Given the description of an element on the screen output the (x, y) to click on. 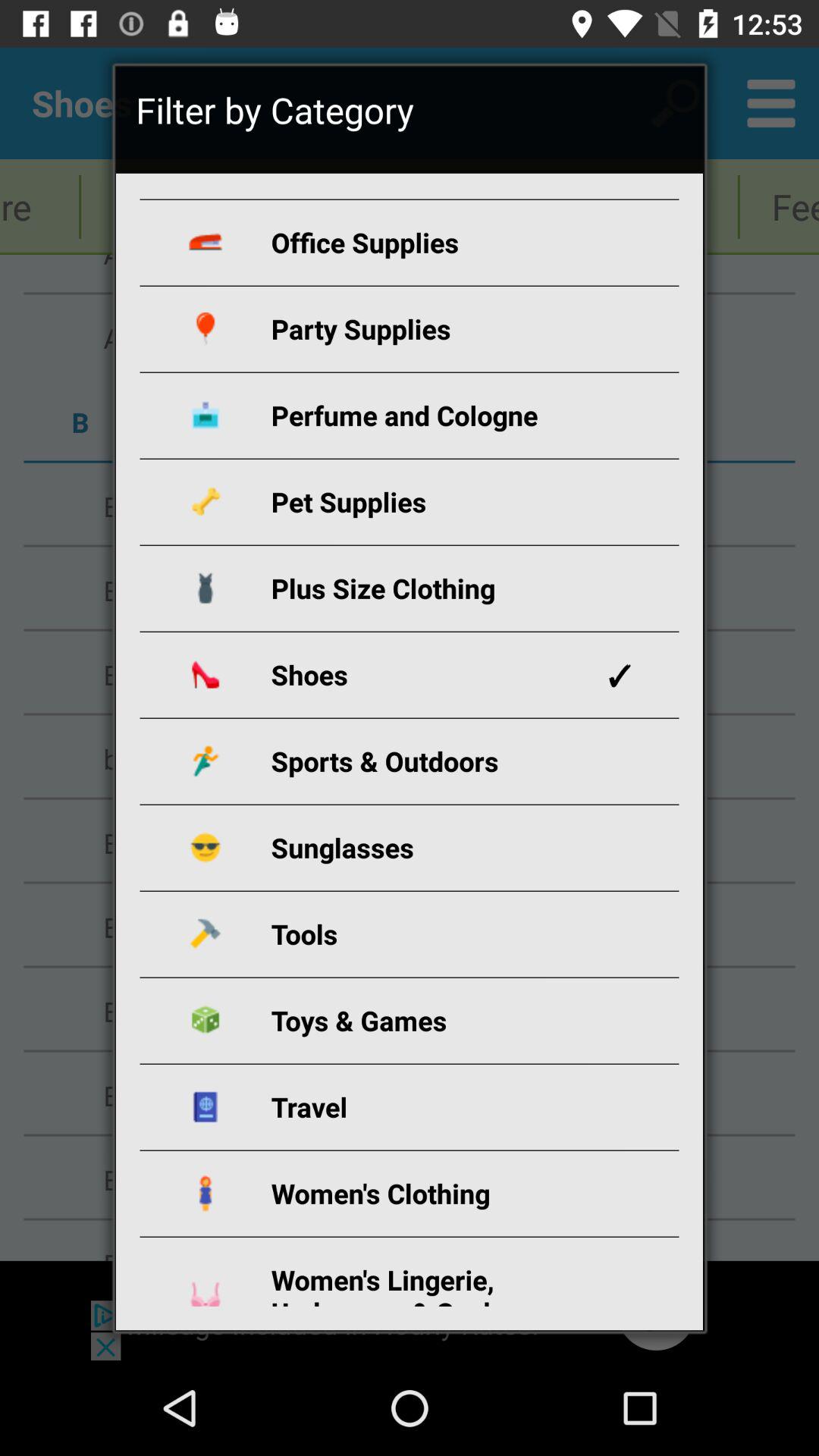
press icon above travel (427, 1020)
